Given the description of an element on the screen output the (x, y) to click on. 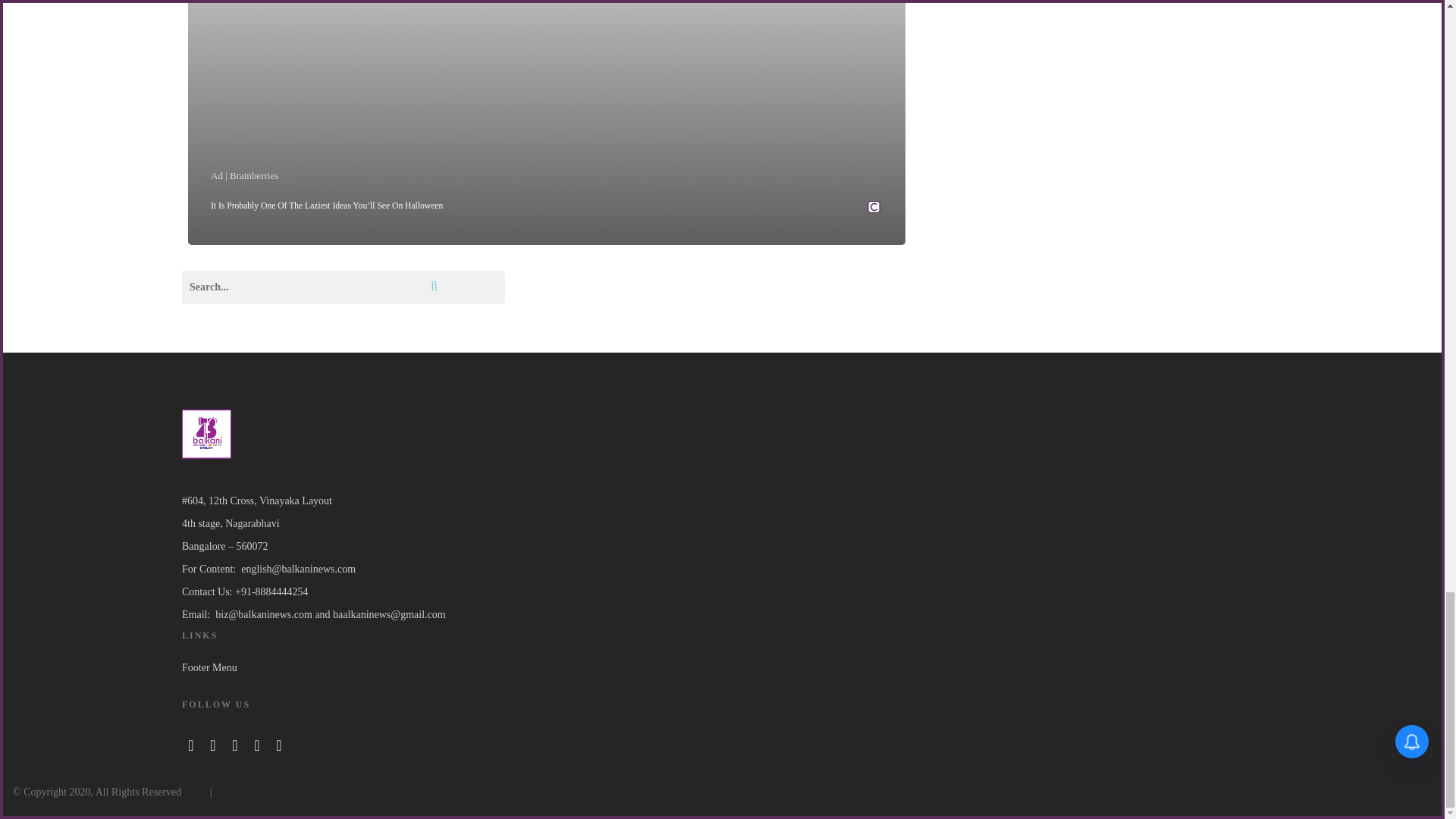
Twitter (212, 743)
Pinterest (278, 743)
Search for: (343, 287)
Instagram (256, 743)
YouTube (234, 743)
Facebook (191, 743)
